Given the description of an element on the screen output the (x, y) to click on. 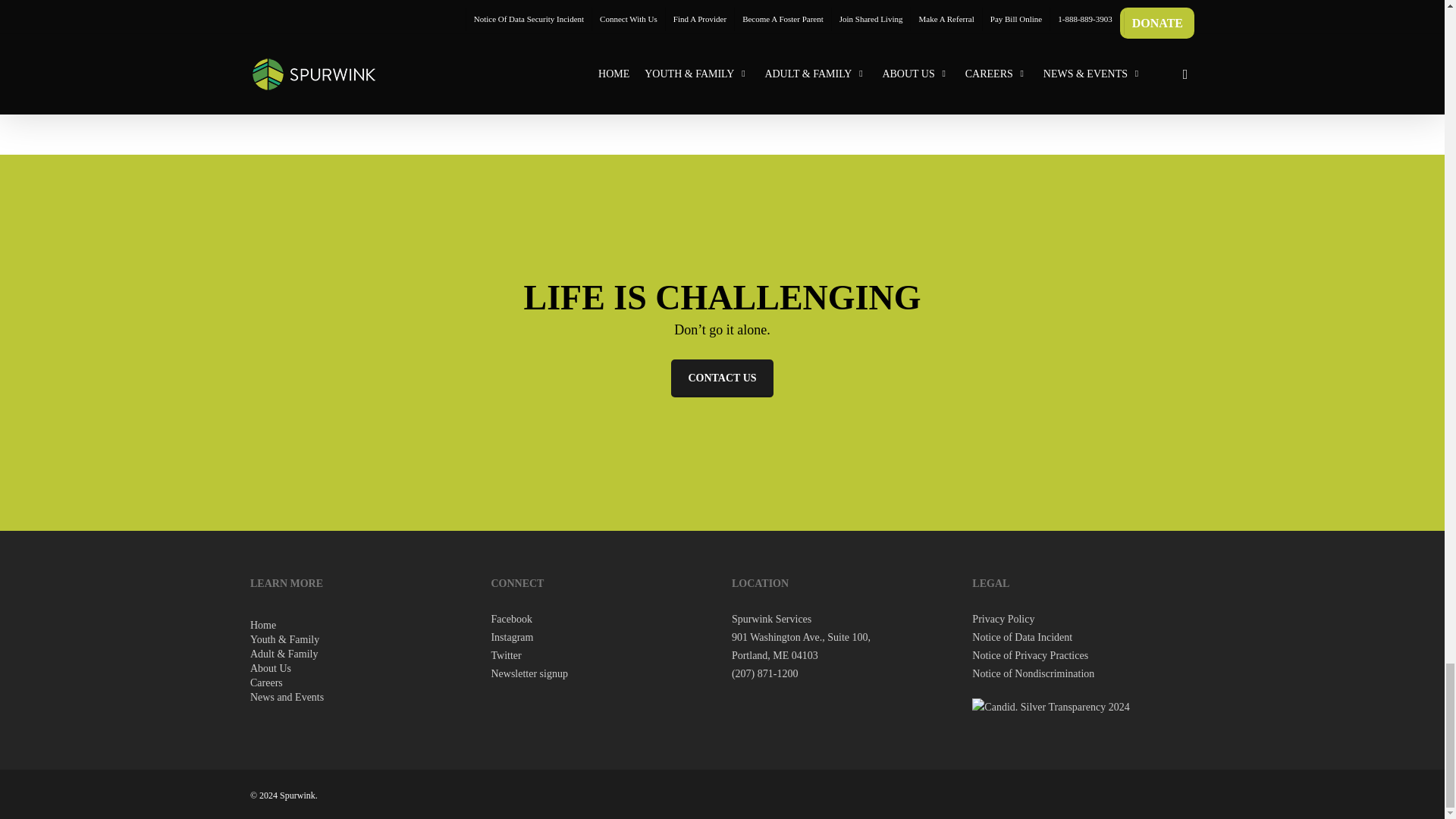
Spurwink Services Instagram Page (511, 636)
Spurwink Services Twitter Page (505, 655)
Spurwink Services Newsletter signup (528, 673)
Spurwink Services Facebook Page (510, 618)
